Given the description of an element on the screen output the (x, y) to click on. 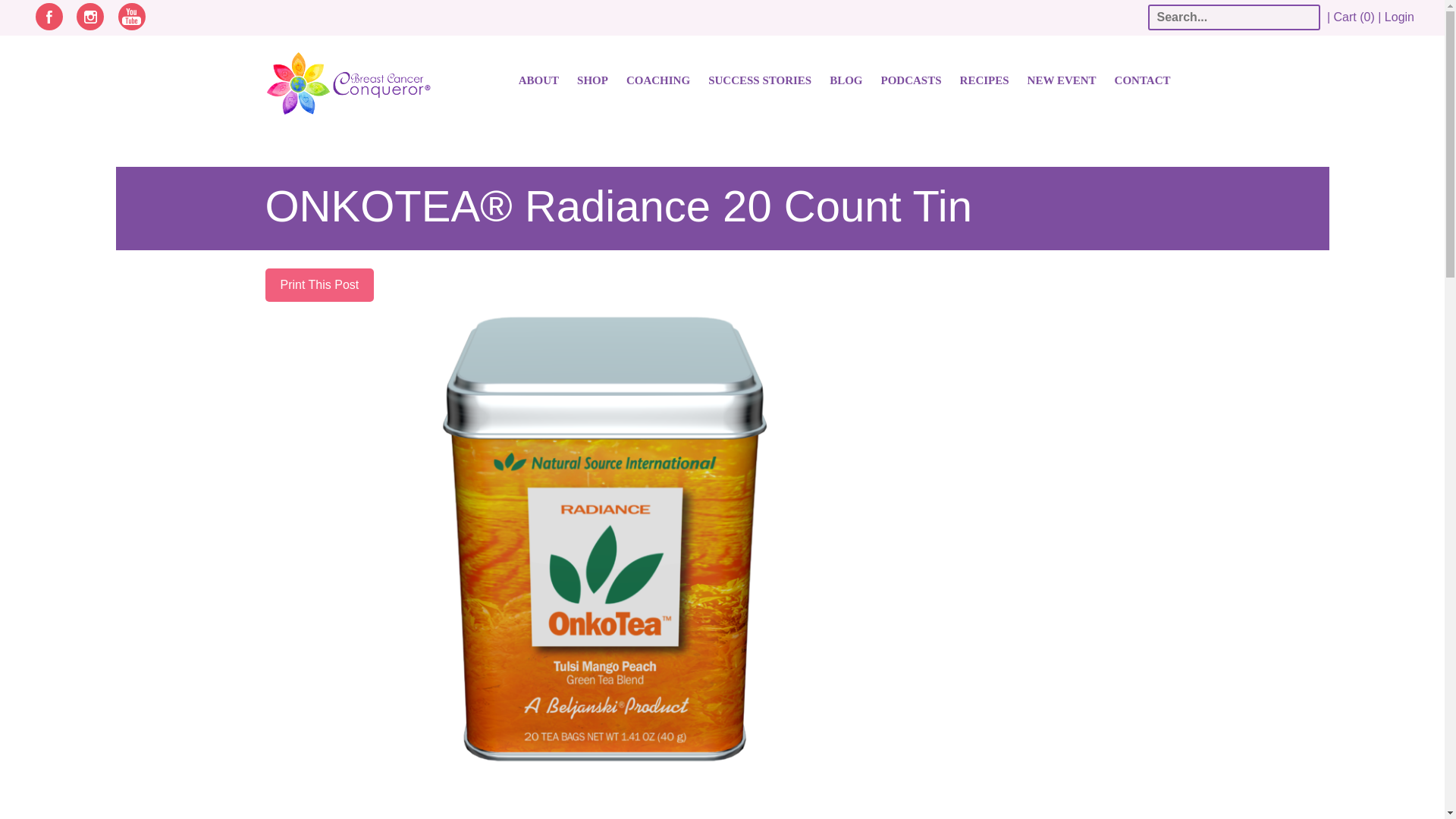
ABOUT (538, 80)
CONTACT (1142, 80)
SHOP (592, 80)
PODCASTS (911, 80)
SUCCESS STORIES (758, 80)
Breast Cancer Conqueror (333, 88)
Print This Post (319, 285)
Print This Post (319, 285)
RECIPES (984, 80)
BLOG (845, 80)
